Given the description of an element on the screen output the (x, y) to click on. 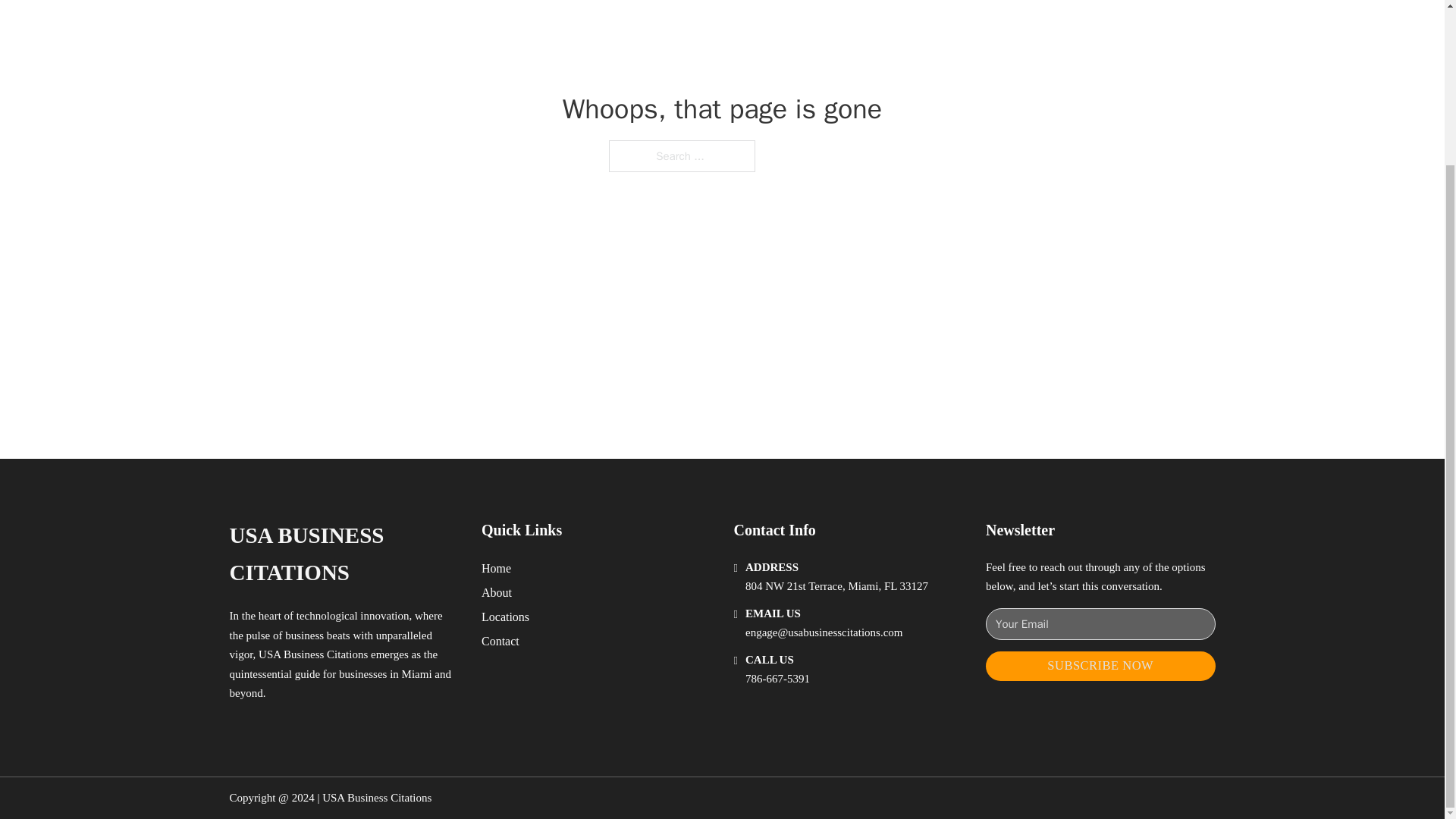
SUBSCRIBE NOW (1100, 665)
786-667-5391 (777, 678)
About (496, 592)
Home (496, 567)
Locations (505, 616)
USA BUSINESS CITATIONS (343, 554)
Contact (500, 640)
